Given the description of an element on the screen output the (x, y) to click on. 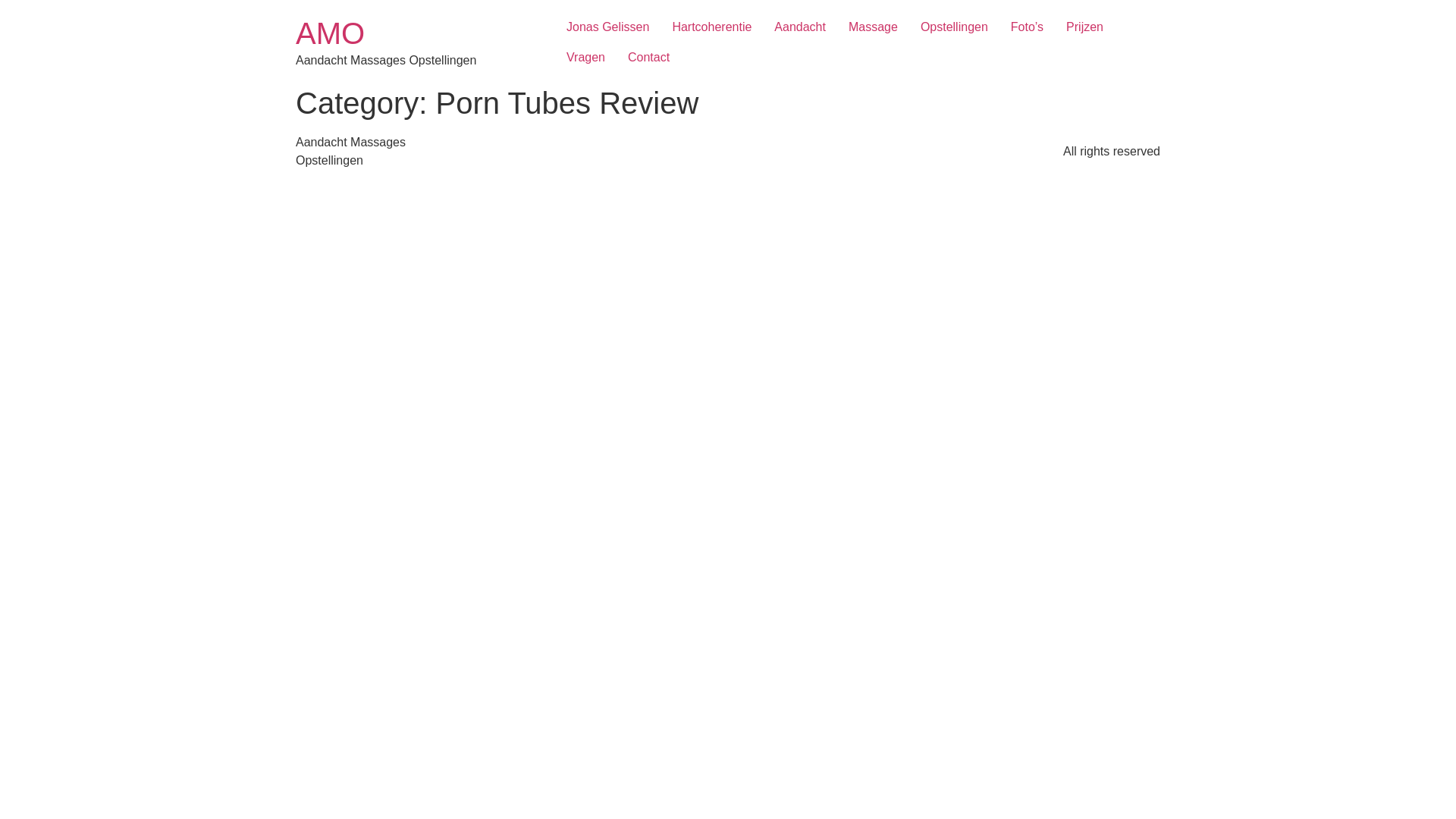
Contact Element type: text (648, 57)
Prijzen Element type: text (1084, 27)
Massage Element type: text (873, 27)
Jonas Gelissen Element type: text (607, 27)
AMO Element type: text (329, 33)
Opstellingen Element type: text (954, 27)
Hartcoherentie Element type: text (711, 27)
Vragen Element type: text (585, 57)
Aandacht Element type: text (799, 27)
